Given the description of an element on the screen output the (x, y) to click on. 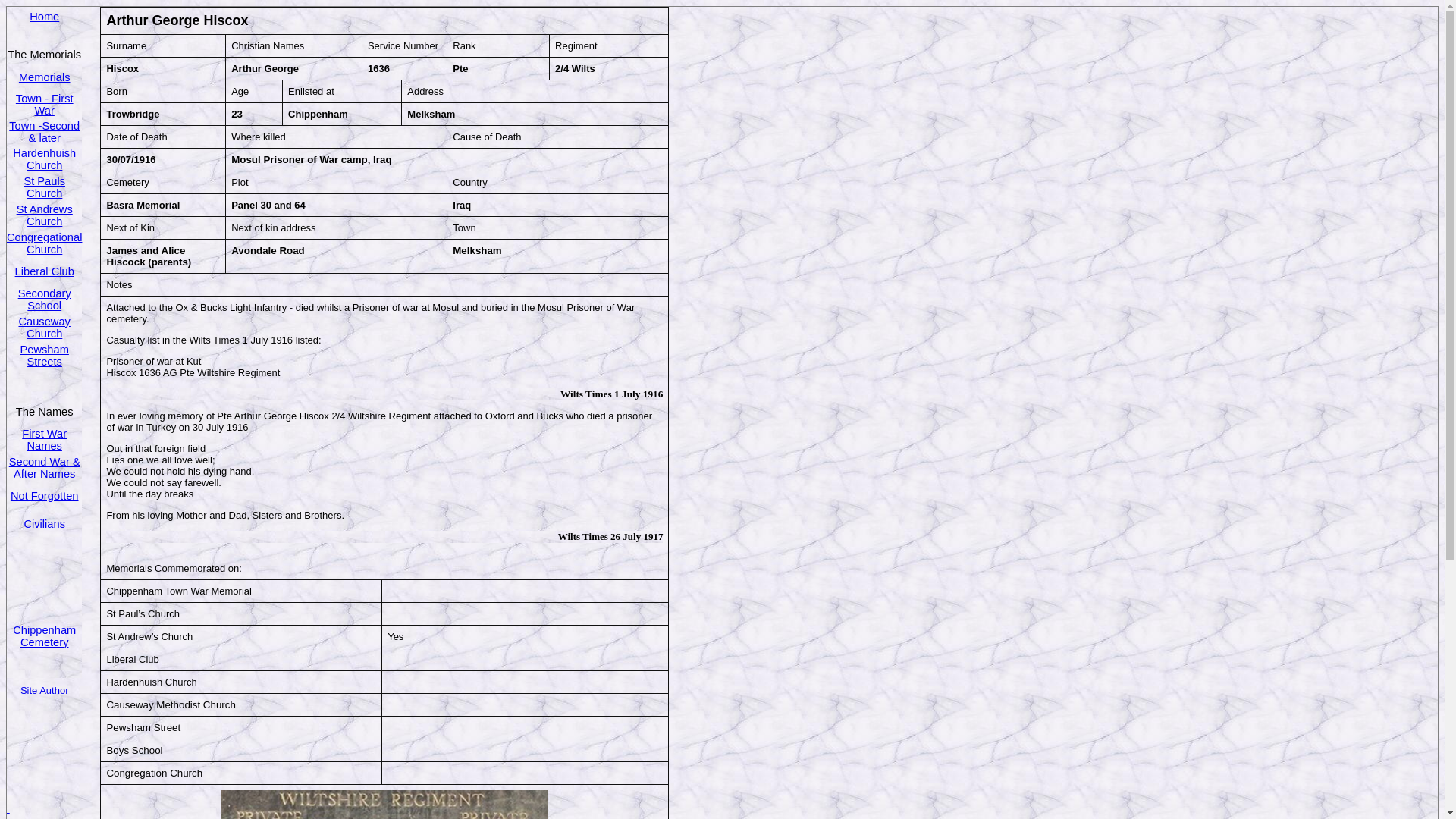
Home (44, 16)
St Pauls Church (44, 186)
Hardenhuish Church (44, 159)
Not Forgotten (44, 495)
Site Author (44, 689)
Secondary School (44, 298)
St Andrews Church (44, 215)
First War (43, 432)
Civilians (44, 522)
Pewsham Streets (44, 354)
Congregational Church (44, 242)
Memorials (43, 77)
Chippenham Cemetery (44, 635)
Names (43, 445)
